Given the description of an element on the screen output the (x, y) to click on. 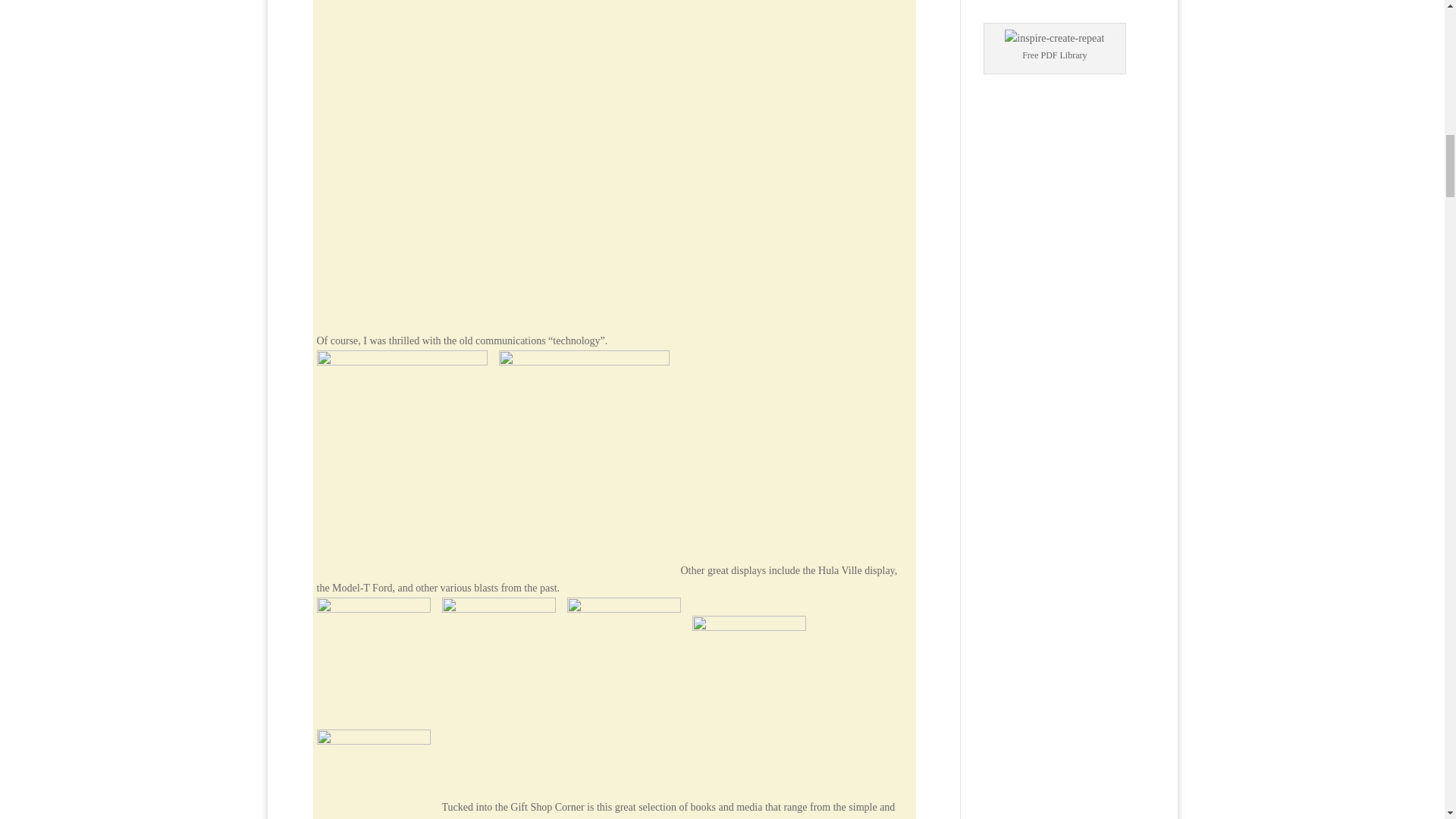
Model T (497, 654)
Love Bug (624, 654)
Coca-Cola Crate (373, 774)
Hula Ville (373, 654)
Civil Defense (748, 672)
